Given the description of an element on the screen output the (x, y) to click on. 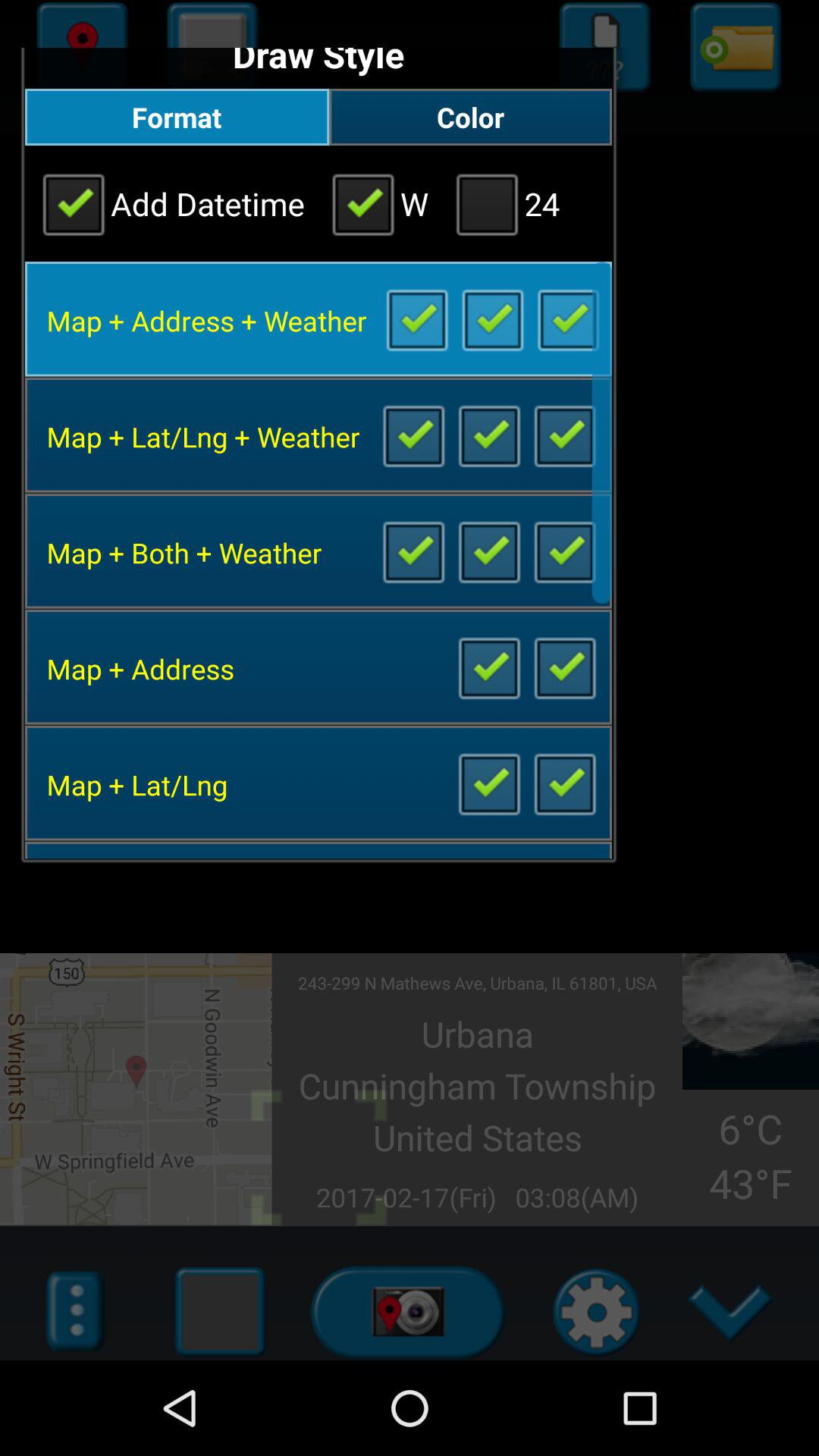
mark a for activate (416, 318)
